Given the description of an element on the screen output the (x, y) to click on. 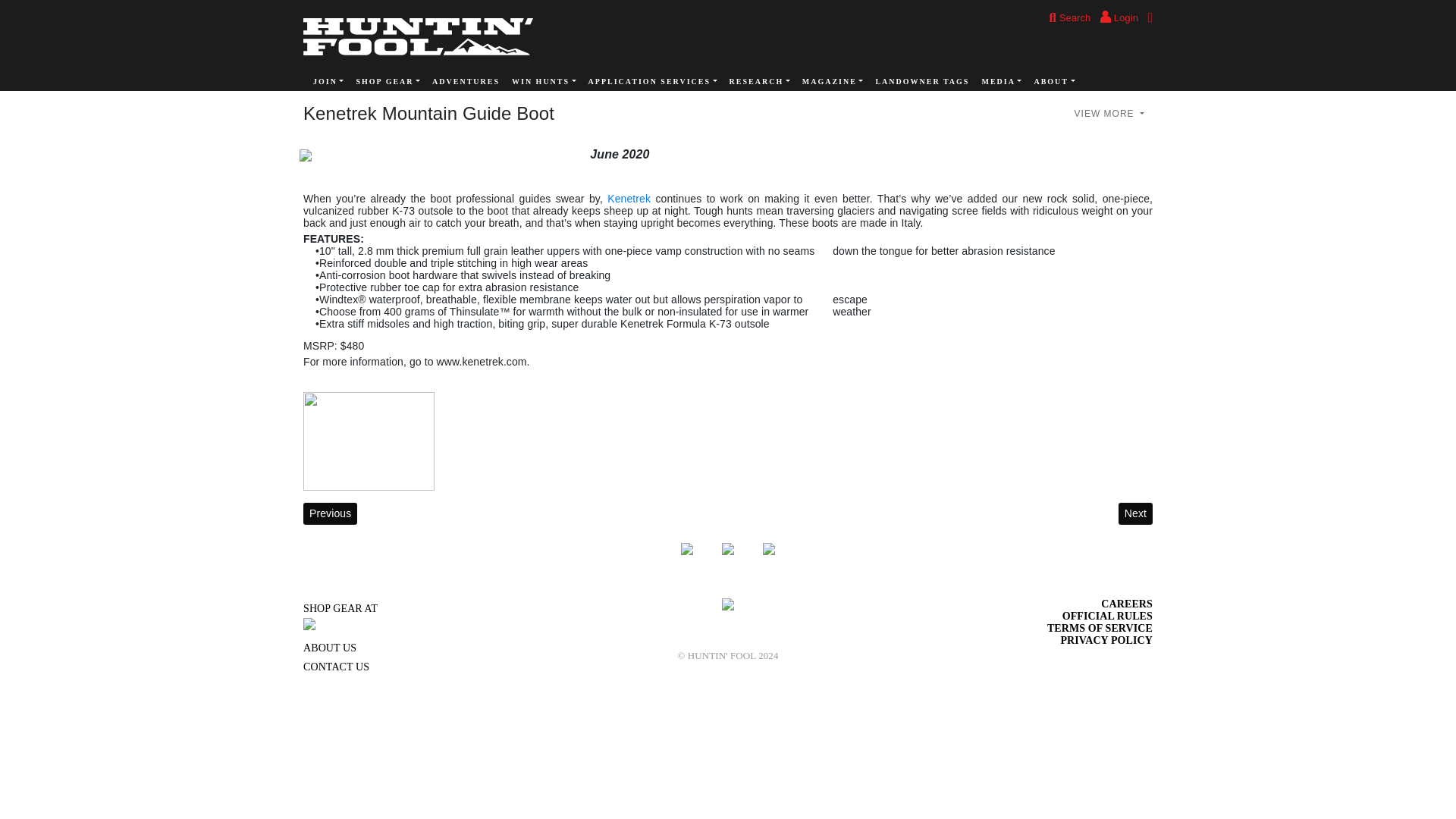
SHOP GEAR (387, 81)
APPLICATION SERVICES (652, 81)
WIN HUNTS (543, 81)
ADVENTURES (465, 81)
JOIN (328, 81)
Login (1119, 18)
Search (1069, 18)
RESEARCH (759, 81)
